Given the description of an element on the screen output the (x, y) to click on. 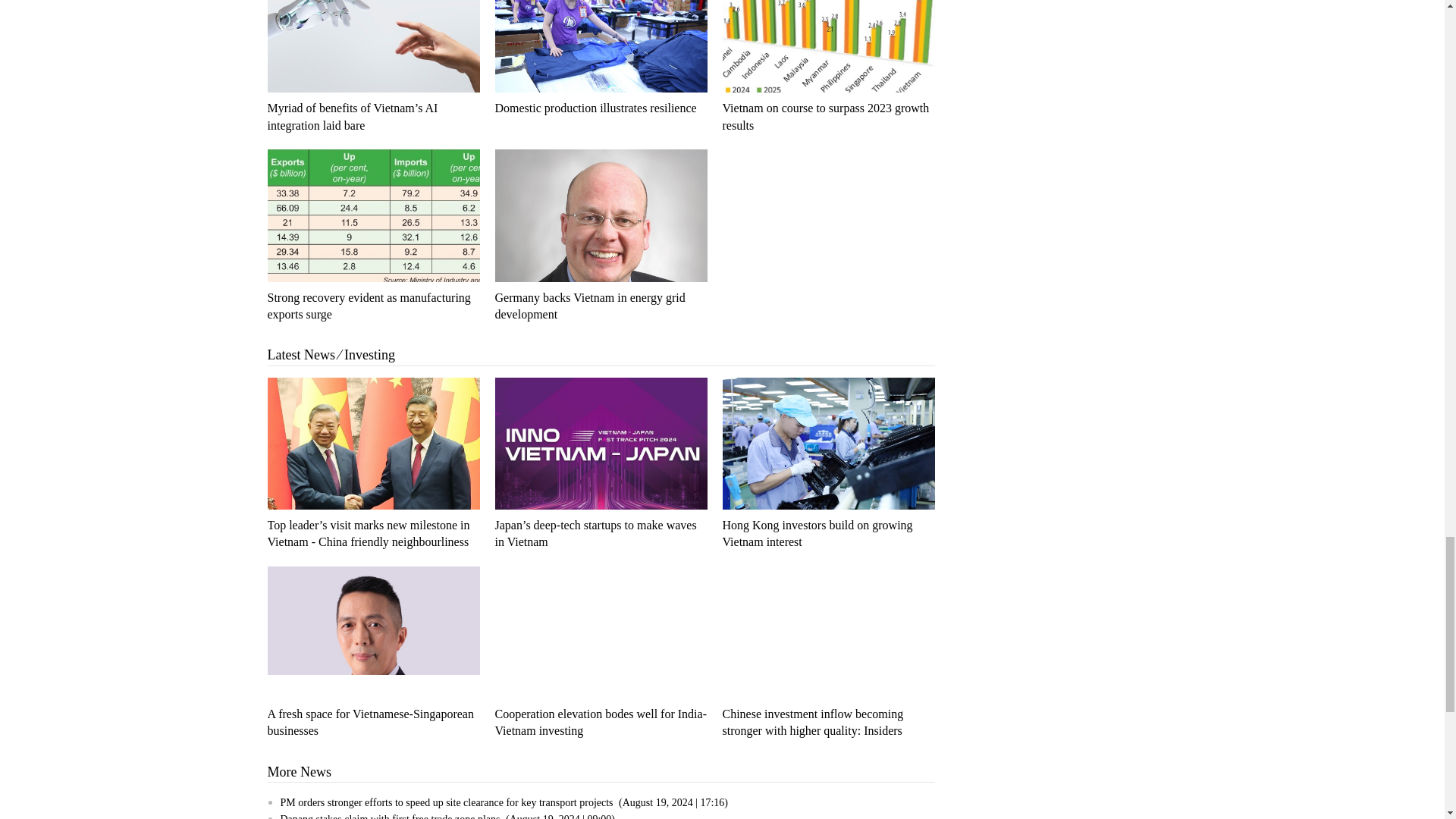
Domestic production illustrates resilience (600, 46)
Domestic production illustrates resilience (595, 107)
Vietnam on course to surpass 2023 growth results (828, 46)
